Given the description of an element on the screen output the (x, y) to click on. 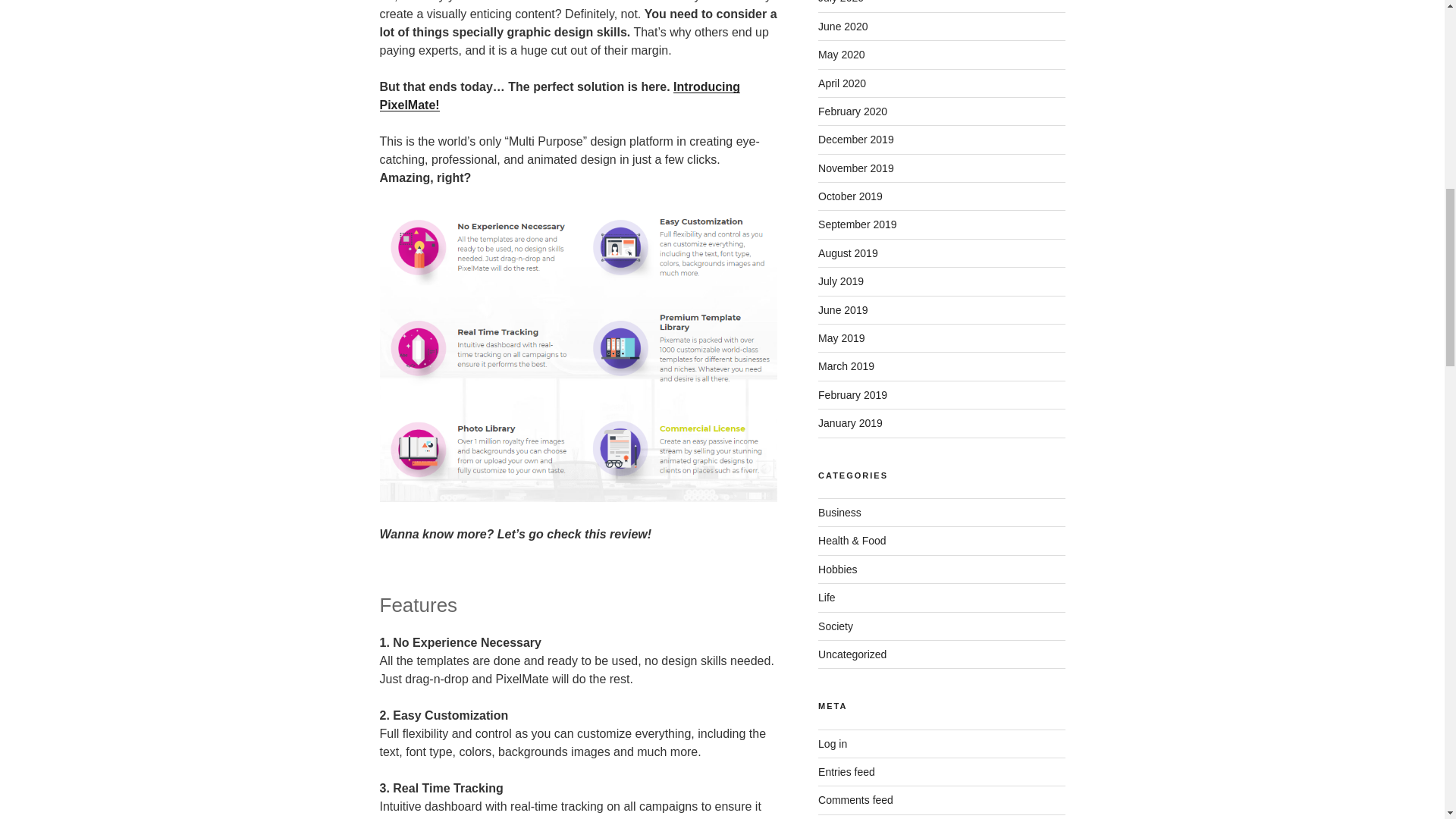
September 2019 (857, 224)
February 2019 (852, 395)
July 2019 (840, 281)
December 2019 (855, 139)
March 2019 (846, 366)
Introducing PixelMate! (558, 95)
July 2020 (840, 2)
October 2019 (850, 196)
June 2020 (842, 26)
April 2020 (842, 82)
May 2020 (841, 54)
August 2019 (847, 253)
February 2020 (852, 111)
May 2019 (841, 337)
November 2019 (855, 168)
